Given the description of an element on the screen output the (x, y) to click on. 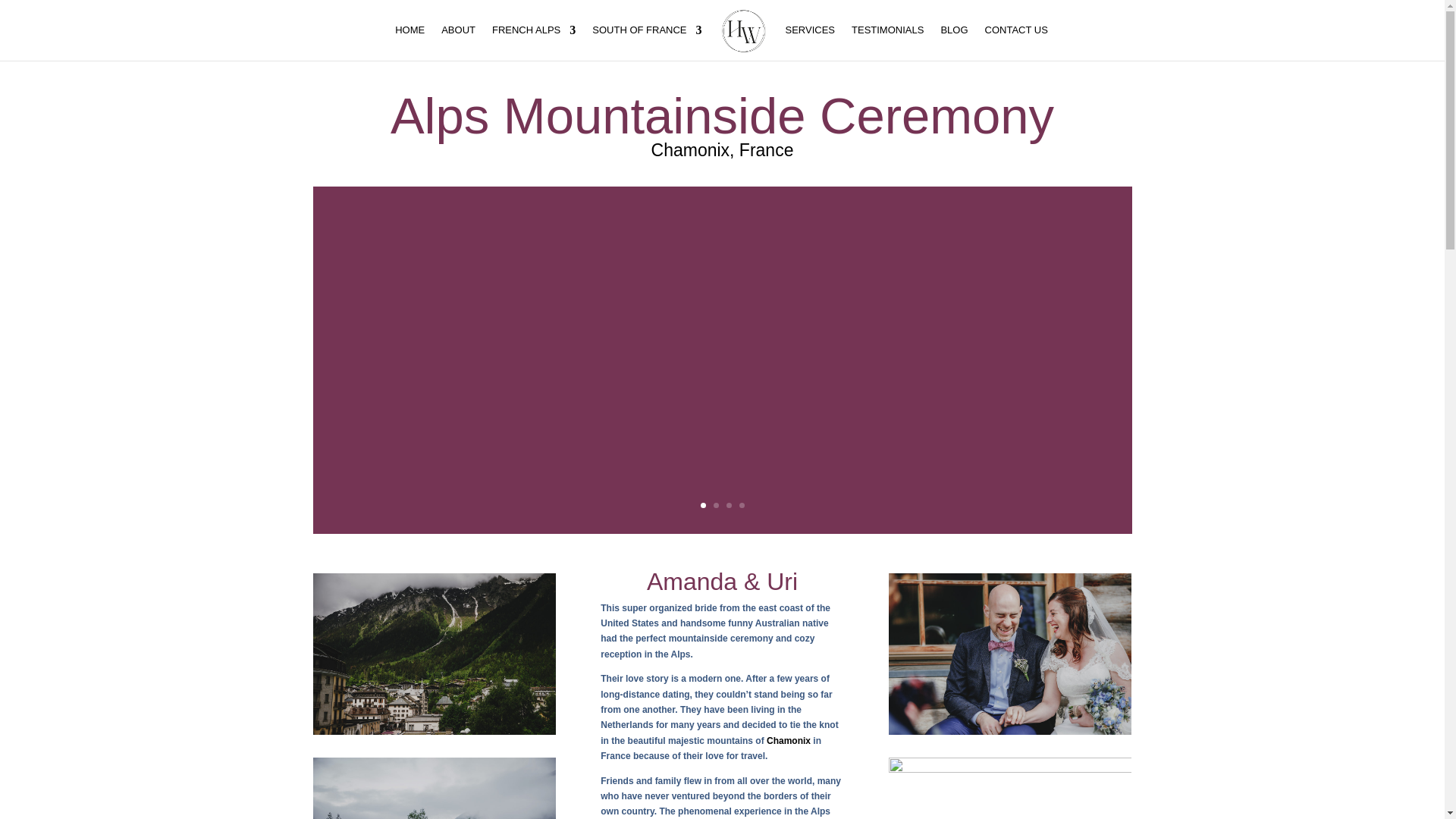
CONTACT US (1016, 42)
FRENCH ALPS (533, 42)
ABOUT (458, 42)
TESTIMONIALS (887, 42)
SERVICES (810, 42)
SOUTH OF FRANCE (646, 42)
Chamonix (788, 740)
